Given the description of an element on the screen output the (x, y) to click on. 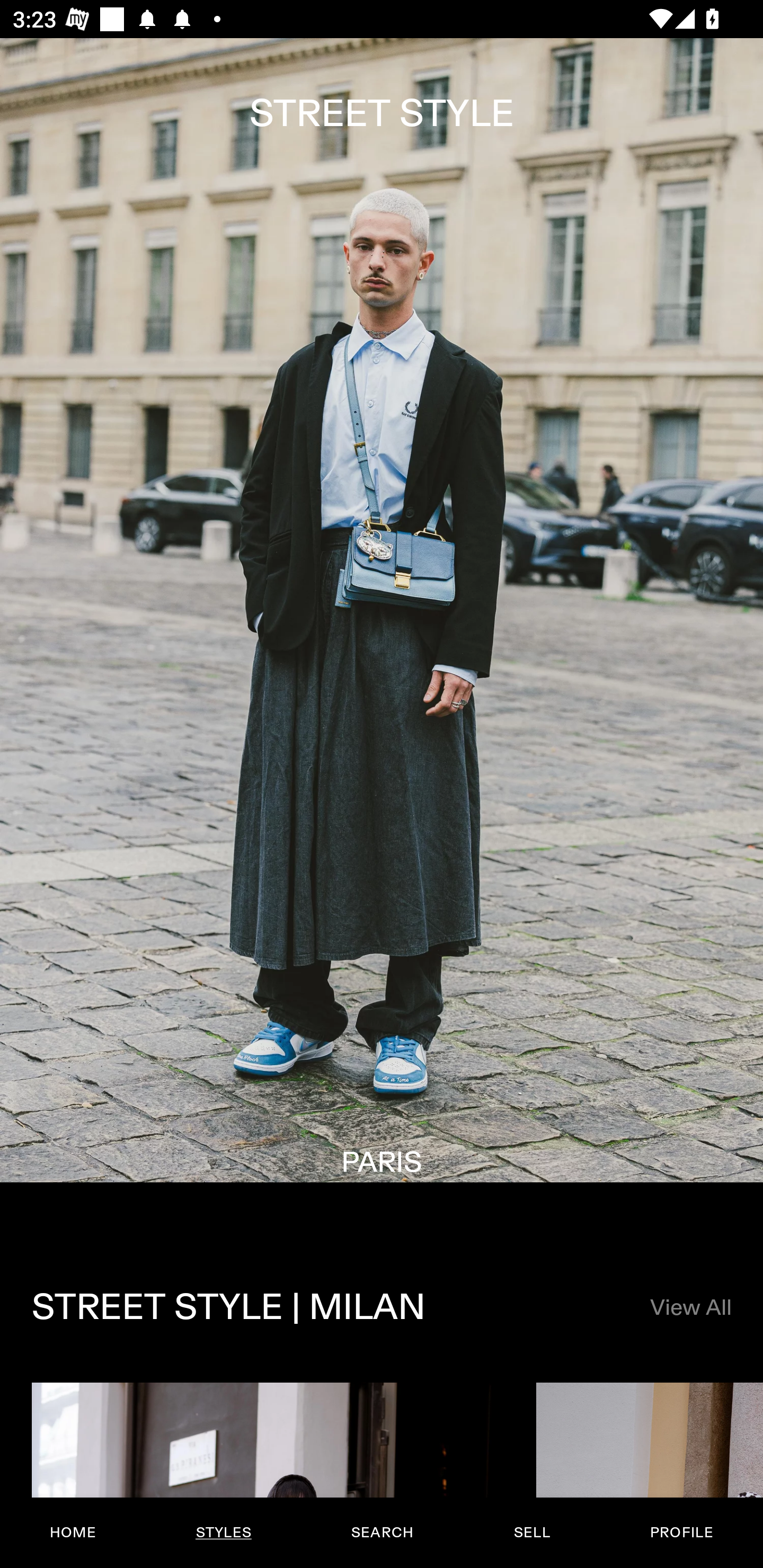
View All (690, 1308)
HOME (72, 1532)
STYLES (222, 1532)
SEARCH (381, 1532)
SELL (531, 1532)
PROFILE (681, 1532)
